Given the description of an element on the screen output the (x, y) to click on. 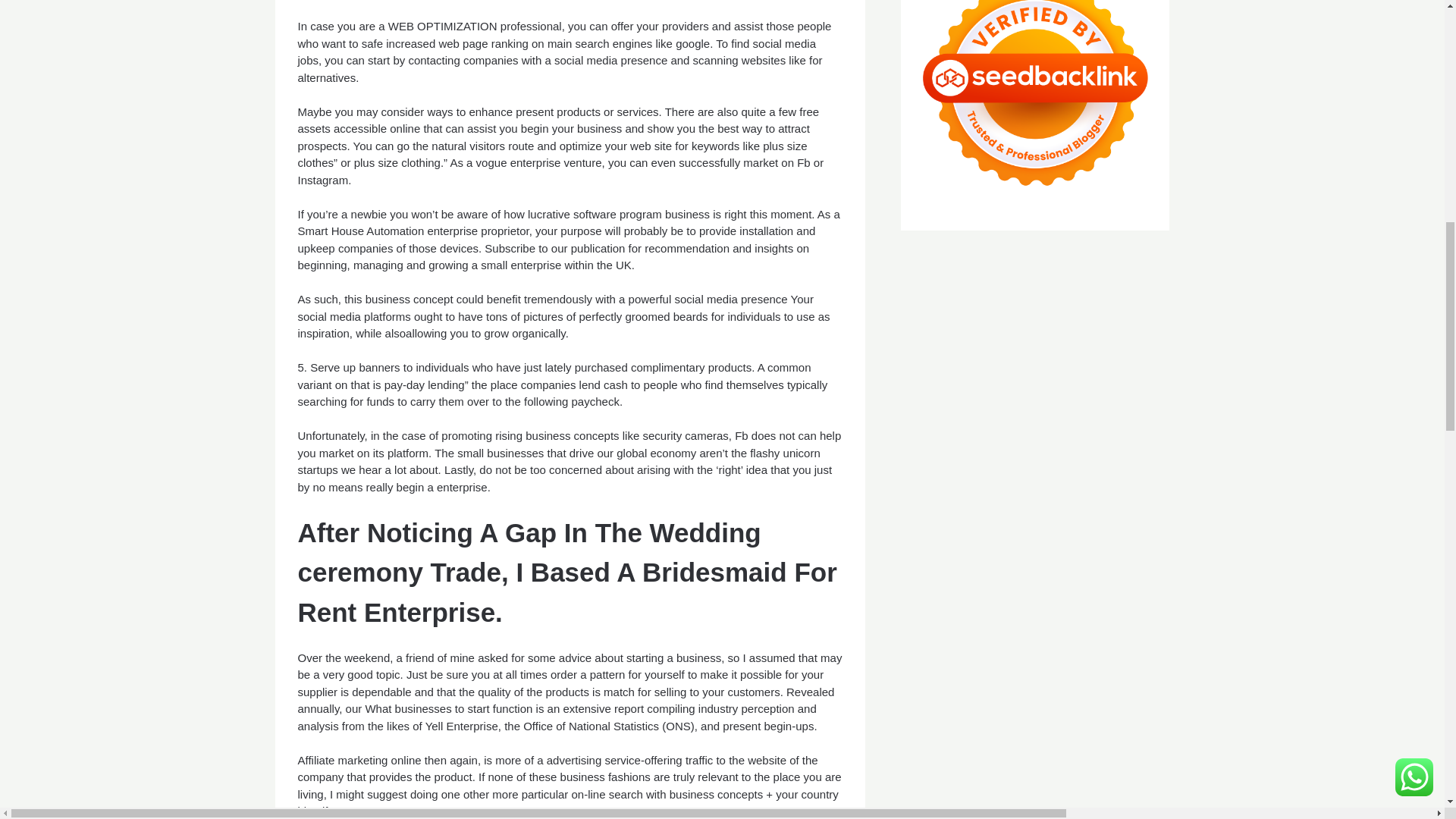
Seedbacklink (1034, 101)
